Given the description of an element on the screen output the (x, y) to click on. 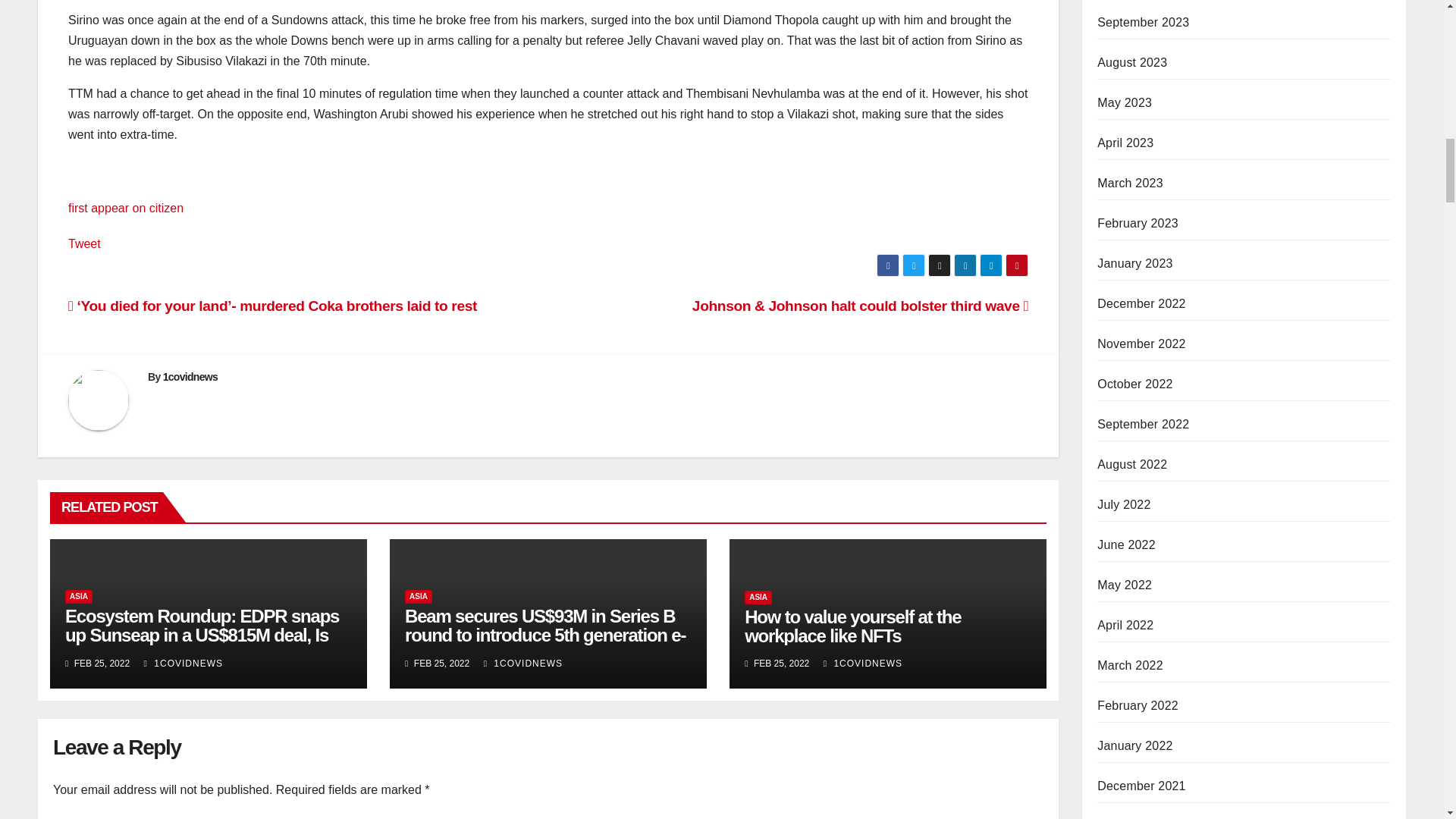
ASIA (79, 596)
1COVIDNEWS (522, 663)
Tweet (84, 243)
ASIA (757, 597)
first appear on citizen (125, 207)
ASIA (418, 596)
How to value yourself at the workplace like NFTs (852, 626)
1covidnews (189, 377)
1COVIDNEWS (183, 663)
